Given the description of an element on the screen output the (x, y) to click on. 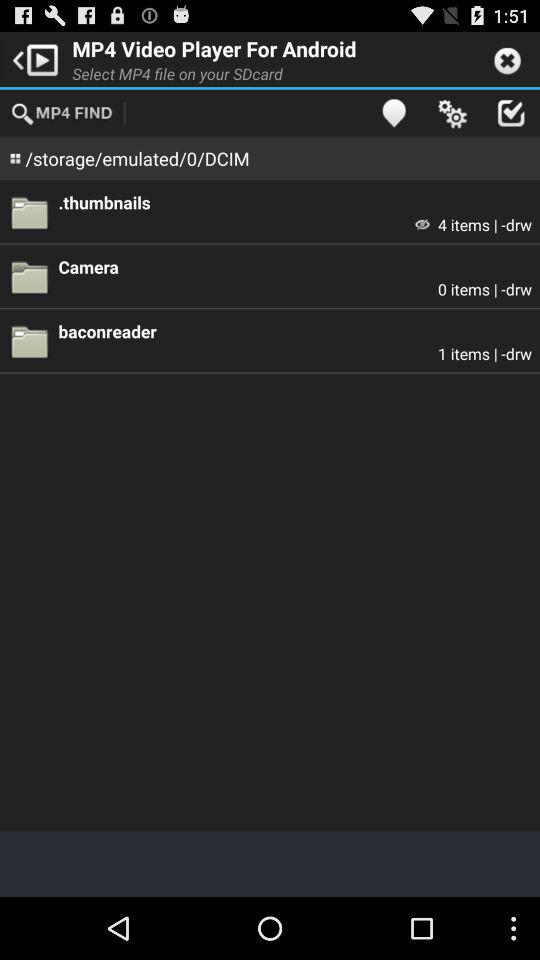
turn off the item below the 0 items | -drw (295, 330)
